Given the description of an element on the screen output the (x, y) to click on. 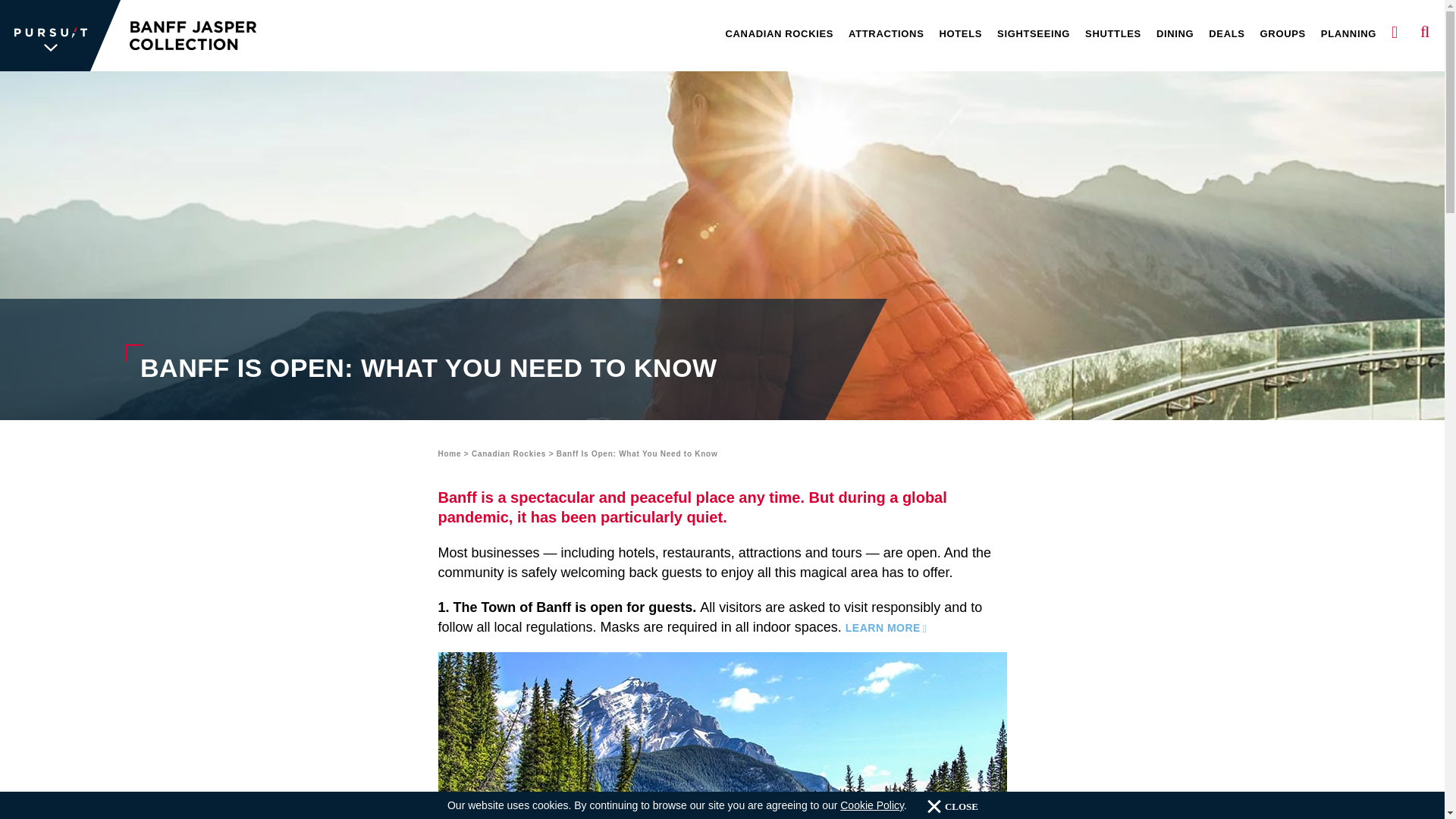
CANADIAN ROCKIES (779, 35)
ATTRACTIONS (886, 35)
Logo (60, 35)
